Given the description of an element on the screen output the (x, y) to click on. 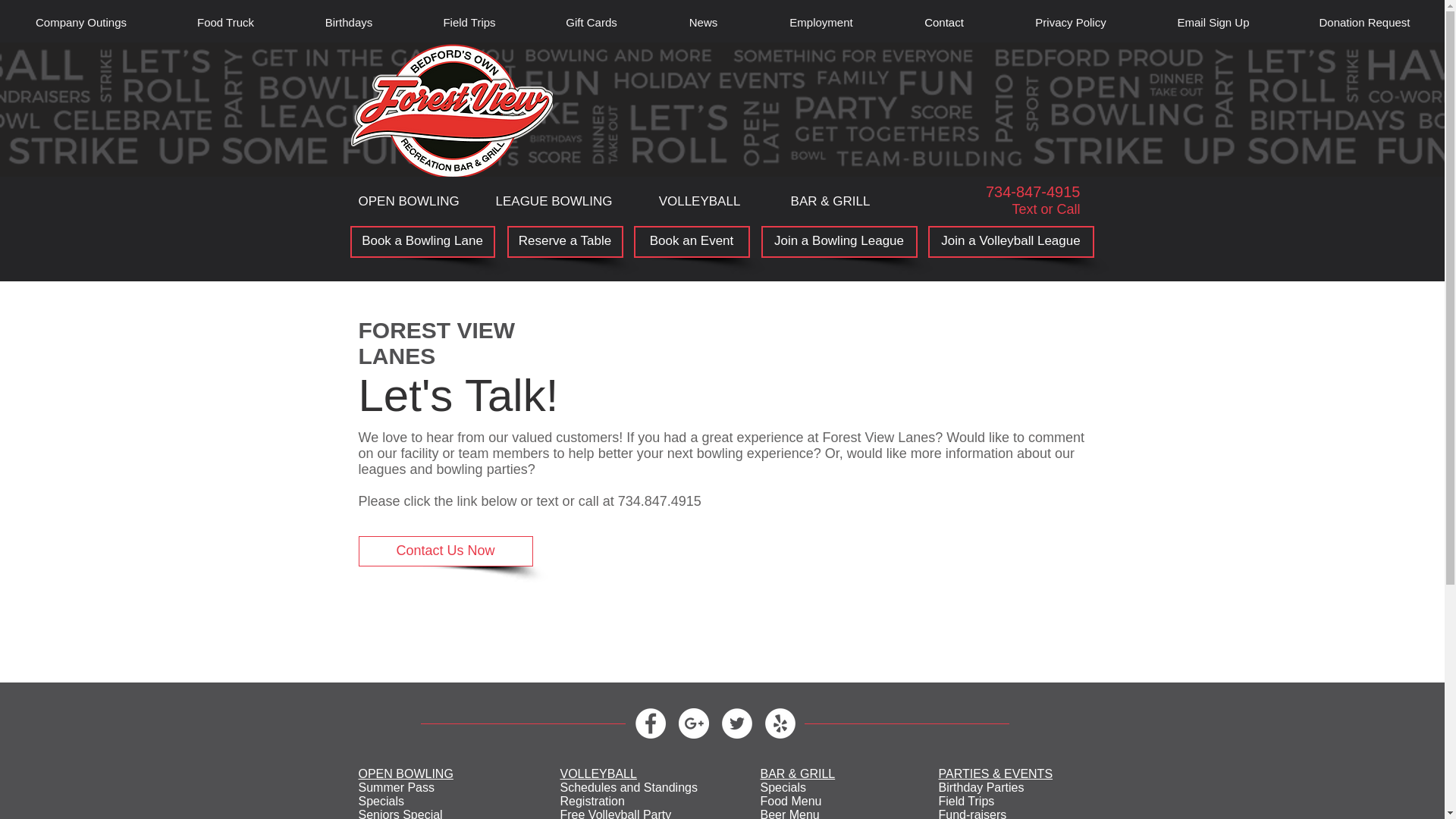
Book an Event (691, 241)
VOLLEYBALL (698, 201)
Join a Volleyball League (1011, 241)
OPEN BOWLING (408, 201)
VOLLEYBALL (597, 773)
Contact (943, 22)
News (703, 22)
Email Sign Up (1212, 22)
LEAGUE BOWLING (554, 201)
Join a Bowling League (839, 241)
Food Truck (224, 22)
OPEN BOWLING (405, 773)
Company Outings (80, 22)
Gift Cards (590, 22)
Privacy Policy (1069, 22)
